Given the description of an element on the screen output the (x, y) to click on. 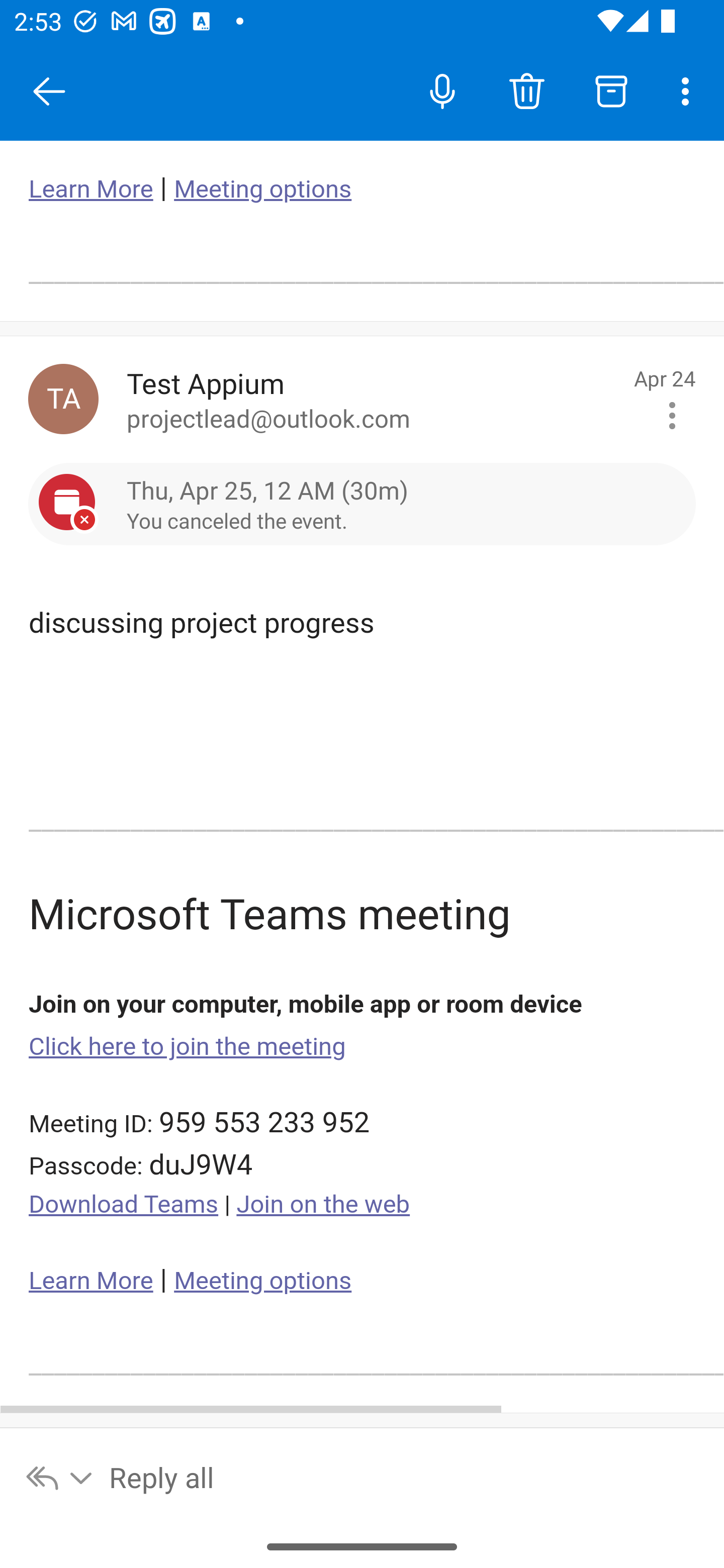
Close (49, 91)
Delete (526, 90)
Archive (611, 90)
More options (688, 90)
Learn More (90, 189)
Meeting options (262, 189)
Test Appium, testappium002@outlook.com (63, 398)
Test Appium
to projectlead@outlook.com (372, 398)
Message actions (671, 416)
Click here to join the meeting (187, 1046)
Download Teams (124, 1204)
Join on the web (323, 1204)
Learn More (90, 1280)
Meeting options (262, 1280)
Reply options (59, 1476)
